Given the description of an element on the screen output the (x, y) to click on. 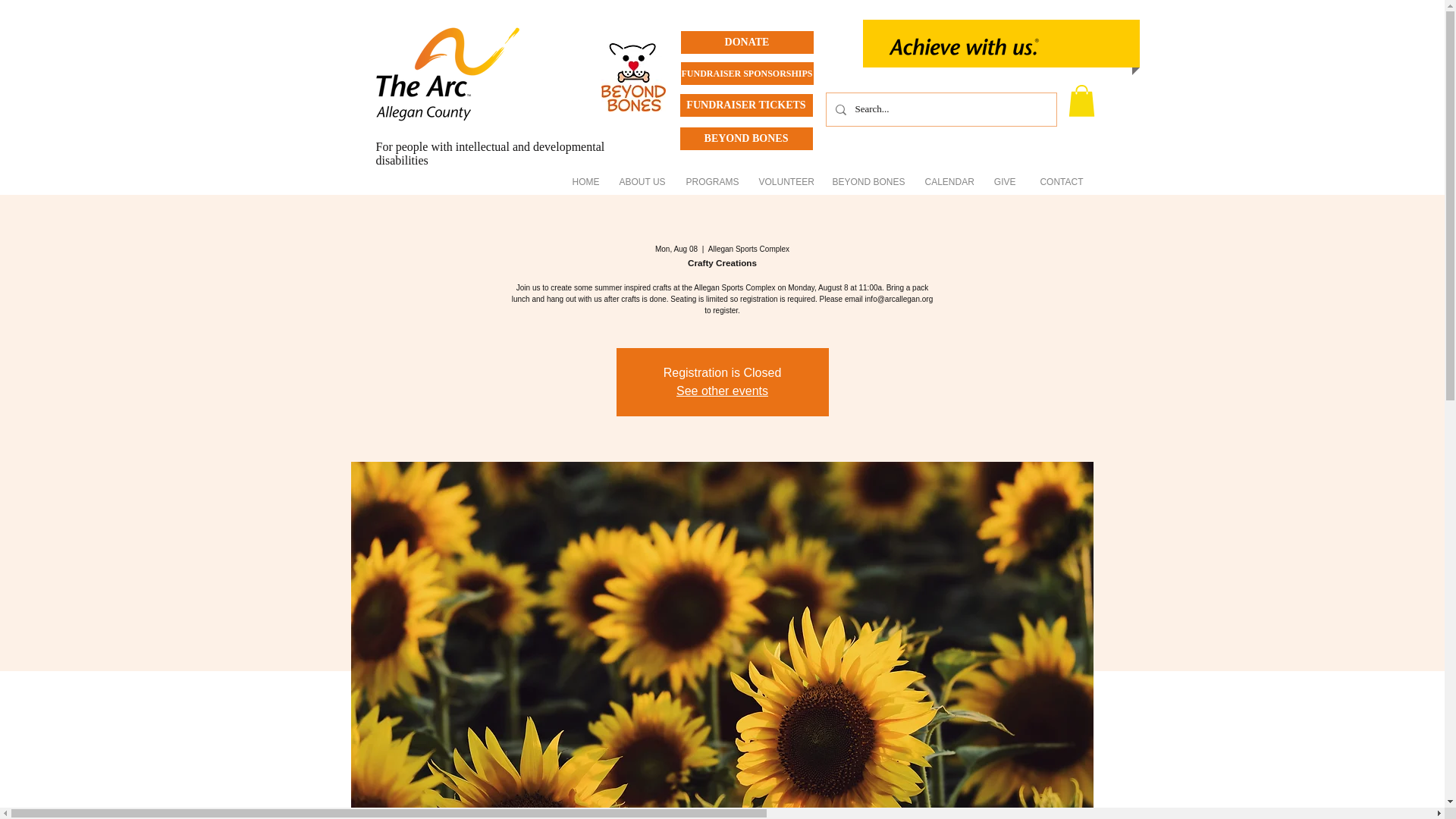
Beyond Bones Stacked PMS Logo.jpg (632, 77)
PROGRAMS (711, 175)
GIVE (1005, 175)
See other events (722, 390)
BEYOND BONES (745, 138)
DONATE (747, 42)
CONTACT (1059, 175)
FUNDRAISER SPONSORSHIPS (747, 73)
VOLUNTEER (785, 175)
HOME (584, 175)
